Given the description of an element on the screen output the (x, y) to click on. 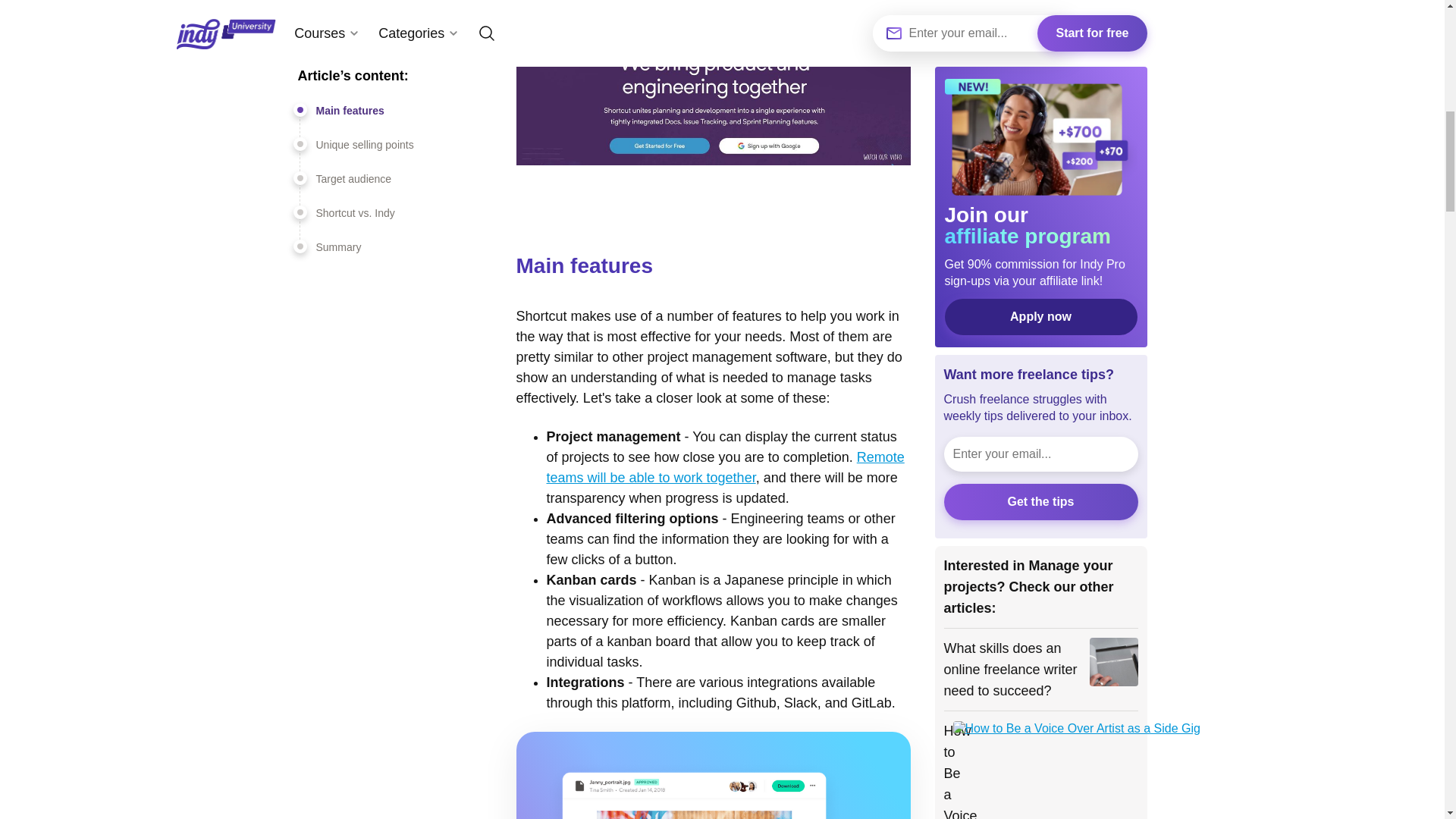
Remote teams will be able to work together (725, 467)
Get the tips (1040, 94)
Be more productive (995, 805)
What skills does an online freelance writer need to succeed? (1011, 262)
Gentle Living (994, 577)
